Given the description of an element on the screen output the (x, y) to click on. 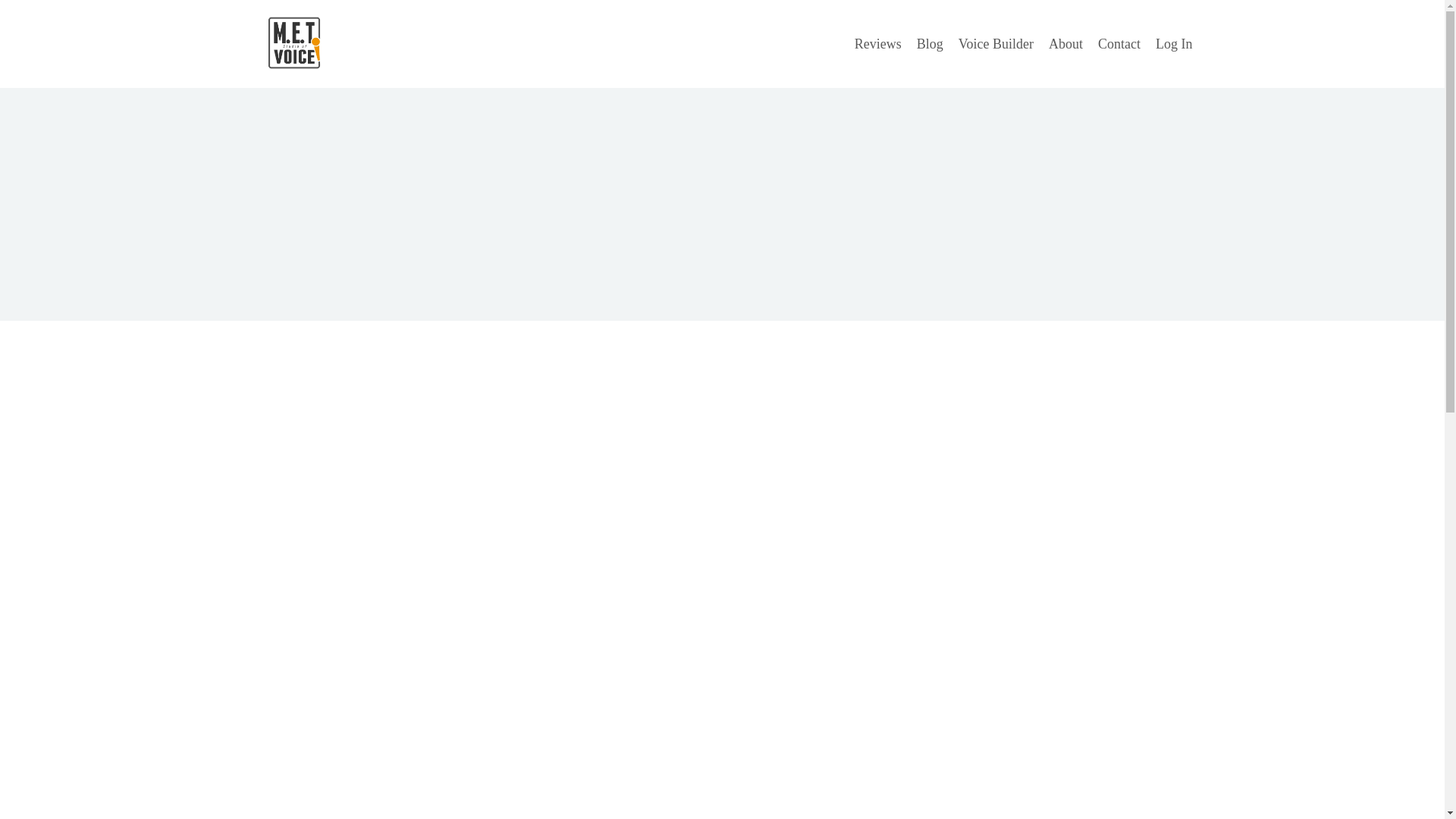
Log In (1174, 43)
Voice Builder (995, 44)
Reviews (877, 44)
Blog (930, 44)
About (1065, 44)
Contact (1118, 44)
